Given the description of an element on the screen output the (x, y) to click on. 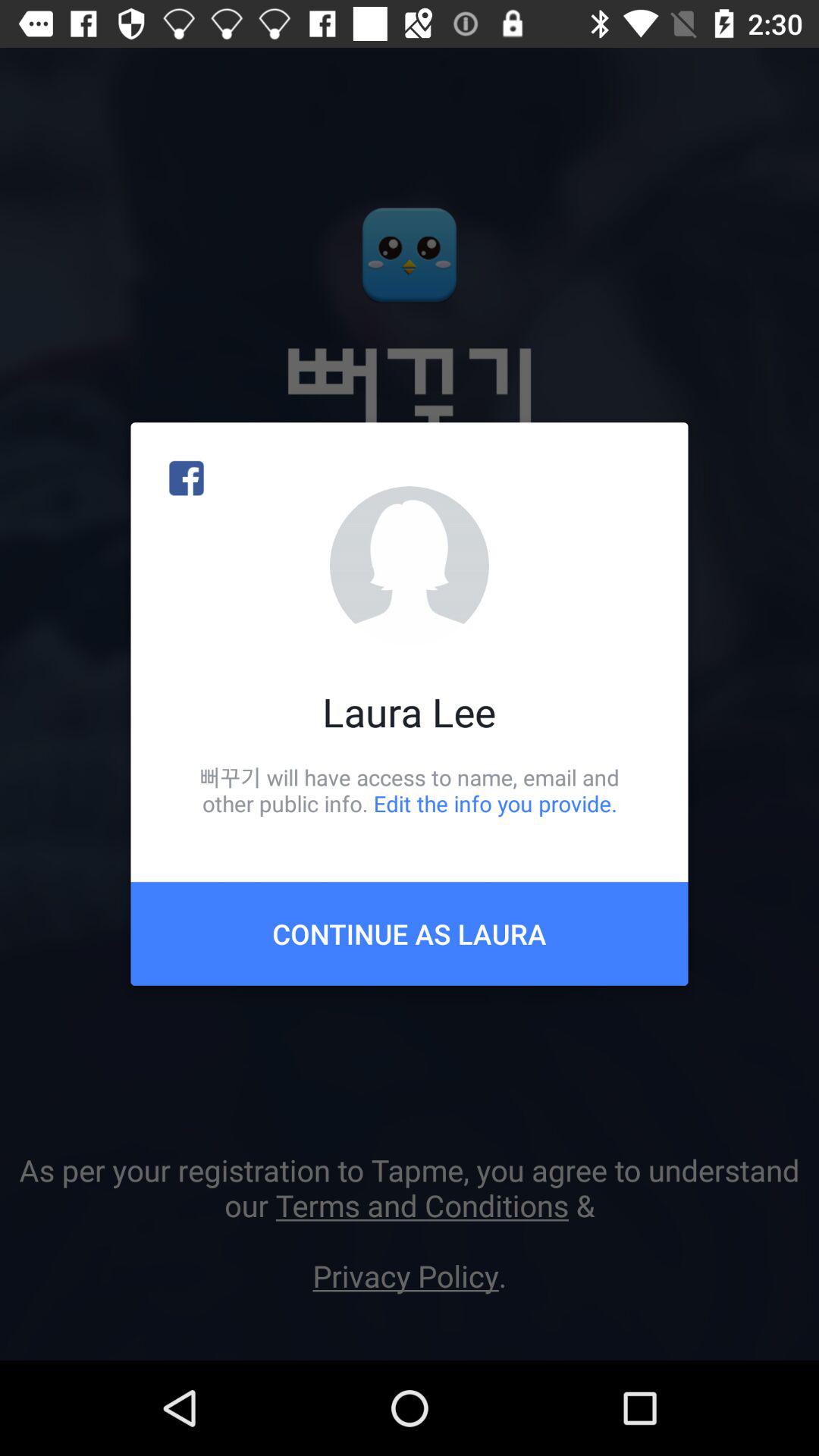
press the item below laura lee icon (409, 790)
